Given the description of an element on the screen output the (x, y) to click on. 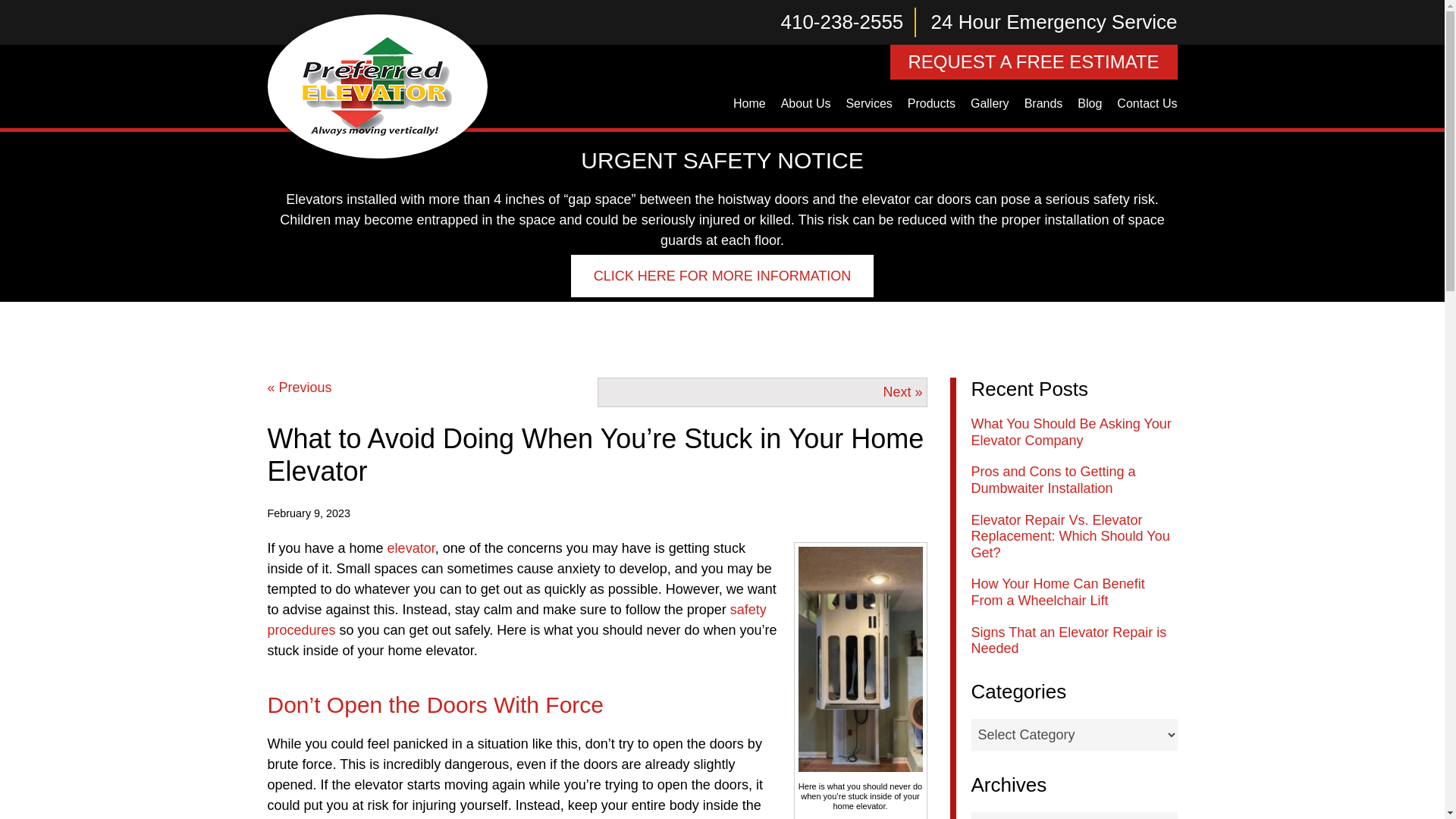
410-238-2555 (848, 21)
Services (868, 103)
Products (930, 103)
CLICK HERE FOR MORE INFORMATION (722, 275)
safety procedures (515, 619)
Brands (1043, 103)
elevator (411, 548)
Preferred Elevator (376, 85)
Gallery (989, 103)
Contact Us (1147, 103)
